Given the description of an element on the screen output the (x, y) to click on. 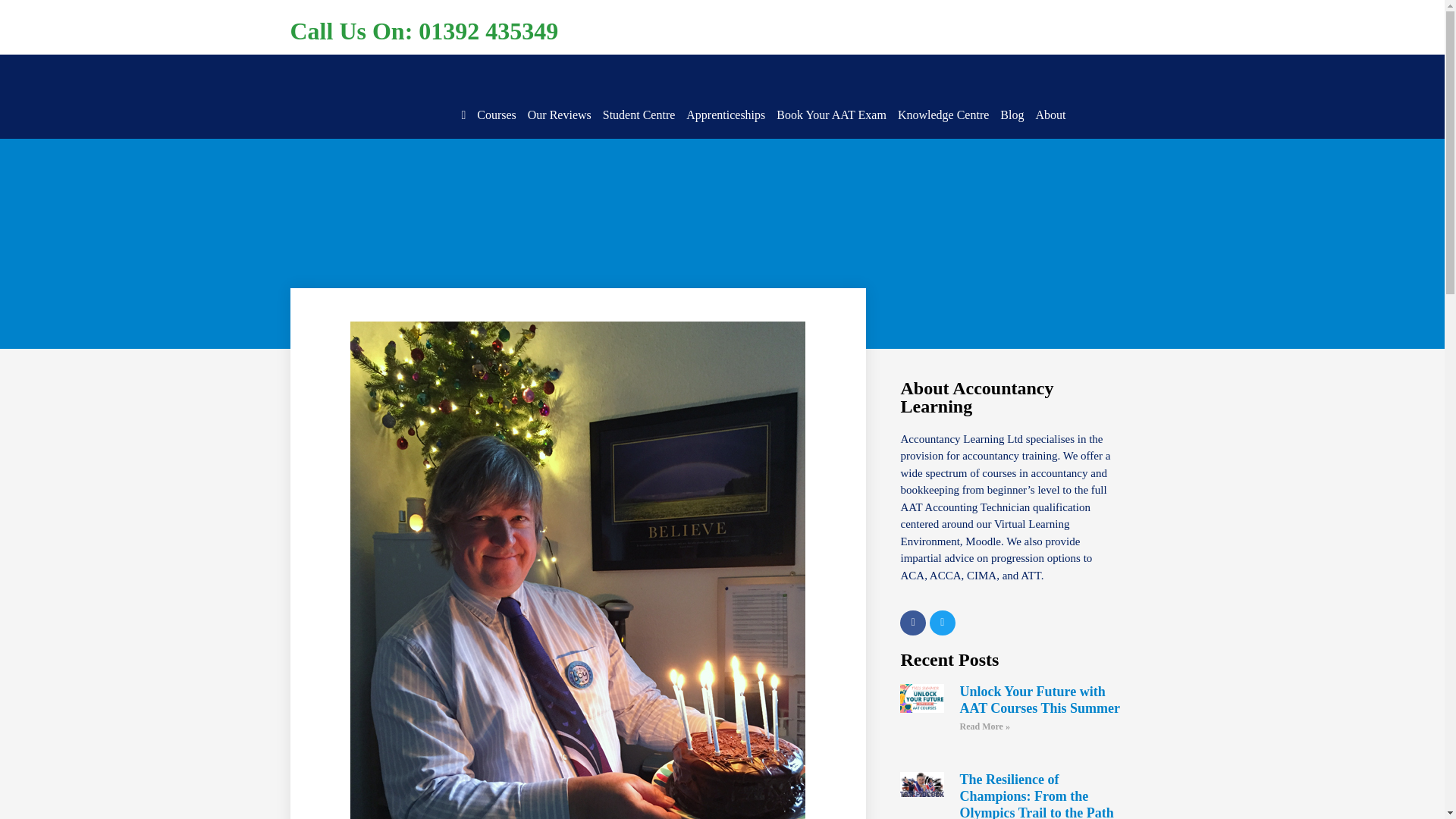
Call Us On: 01392 435349 (423, 31)
Knowledge Centre (943, 115)
About (1050, 115)
Courses (496, 115)
Student Centre (638, 115)
Our Reviews (559, 115)
Apprenticeships (725, 115)
Book Your AAT Exam (831, 115)
